Given the description of an element on the screen output the (x, y) to click on. 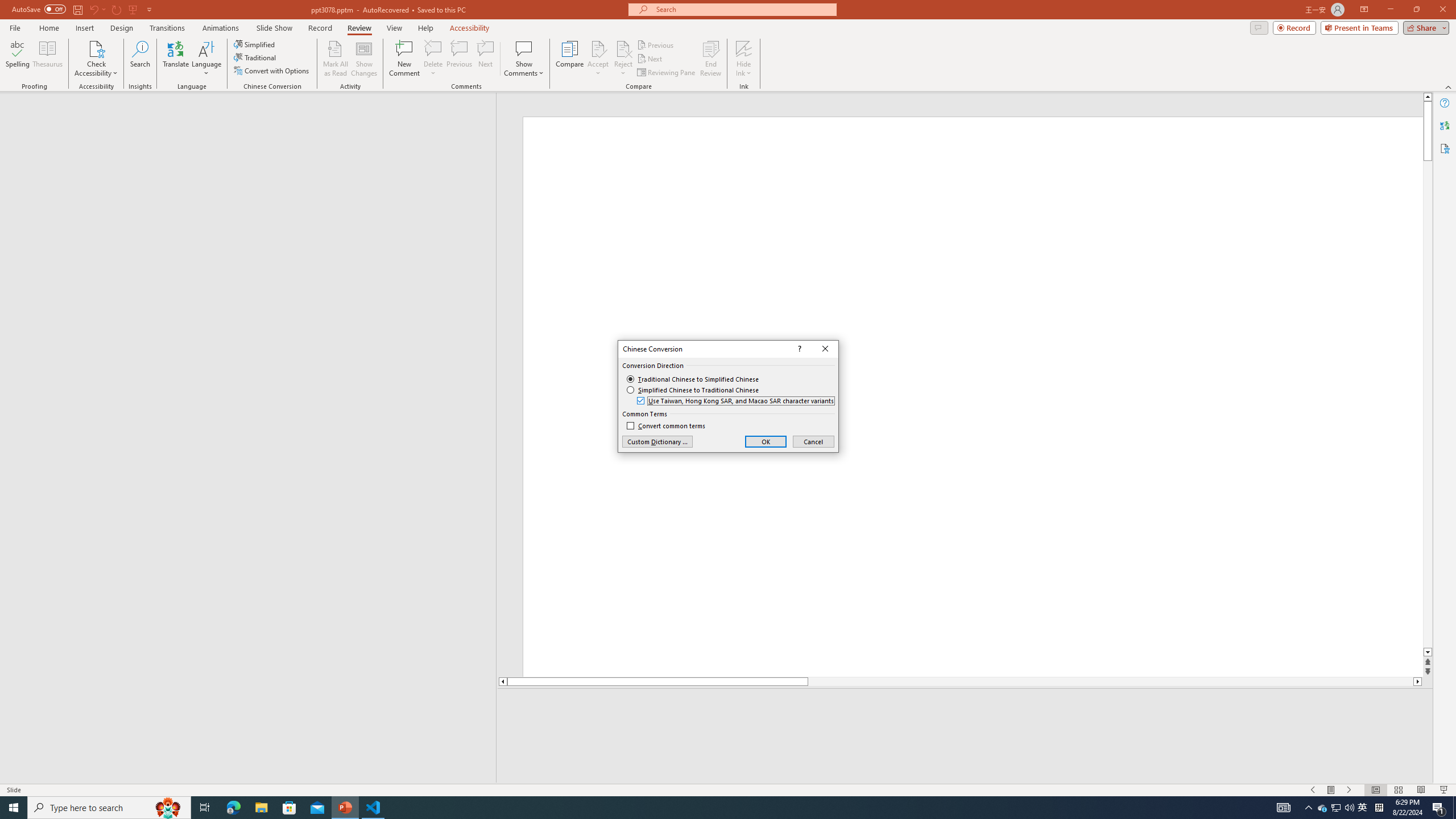
Simplified Chinese to Traditional Chinese (693, 389)
Previous (655, 44)
Reject Change (622, 48)
Mark All as Read (335, 58)
Slide Show Previous On (1313, 790)
OK (765, 440)
Traditional Chinese to Simplified Chinese (693, 379)
